Given the description of an element on the screen output the (x, y) to click on. 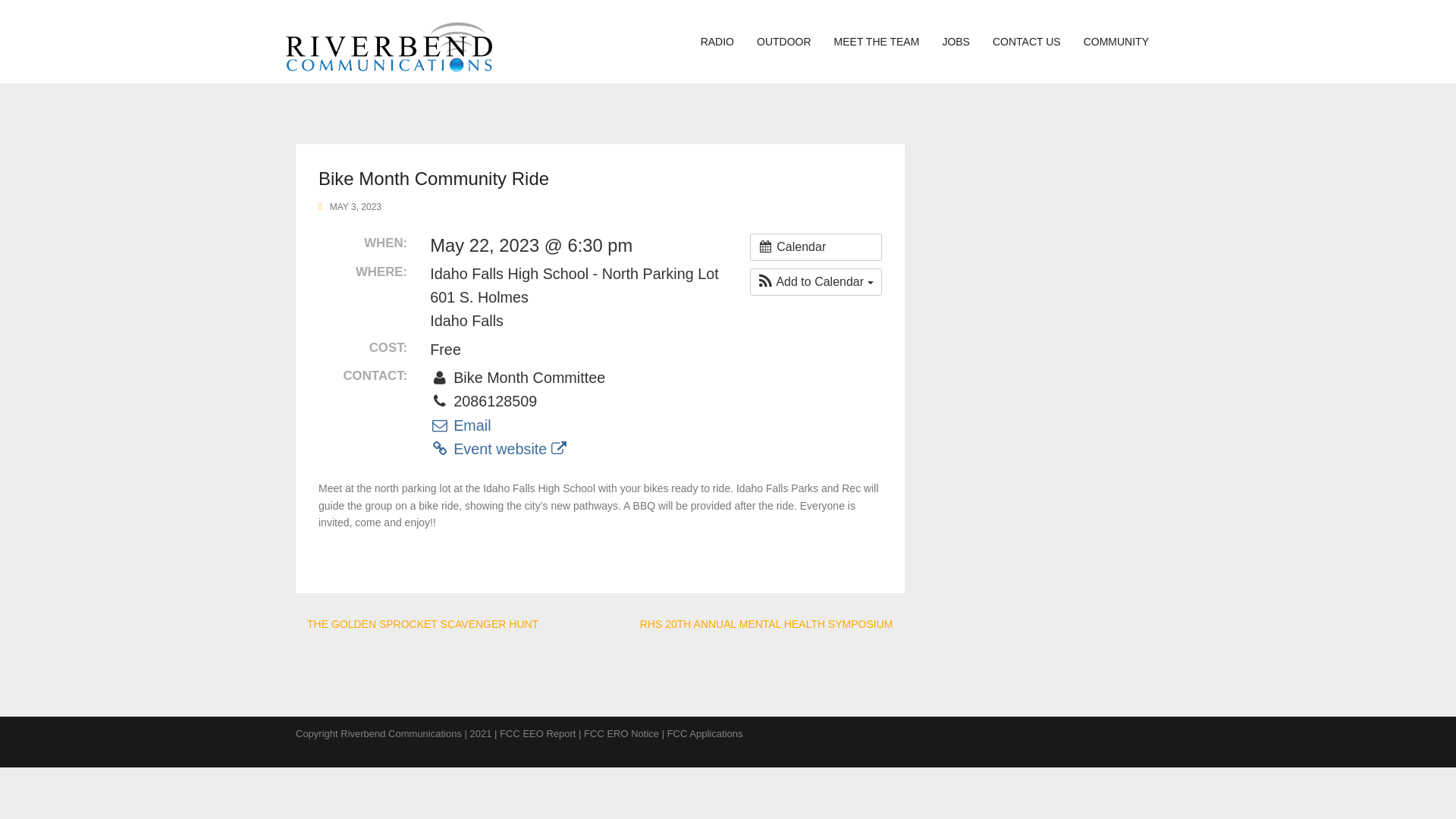
RHS 20TH ANNUAL MENTAL HEALTH SYMPOSIUM (766, 623)
CONTACT US (1026, 41)
FCC ERO Notice (621, 733)
FCC EEO Report (537, 733)
Calendar (815, 247)
OUTDOOR (783, 41)
RADIO (716, 41)
FCC Applications (704, 733)
Event website (497, 448)
MEET THE TEAM (876, 41)
Email (459, 425)
View all events (815, 247)
MAY 3, 2023 (355, 206)
COMMUNITY (1115, 41)
Riverbend Communications (387, 40)
